Given the description of an element on the screen output the (x, y) to click on. 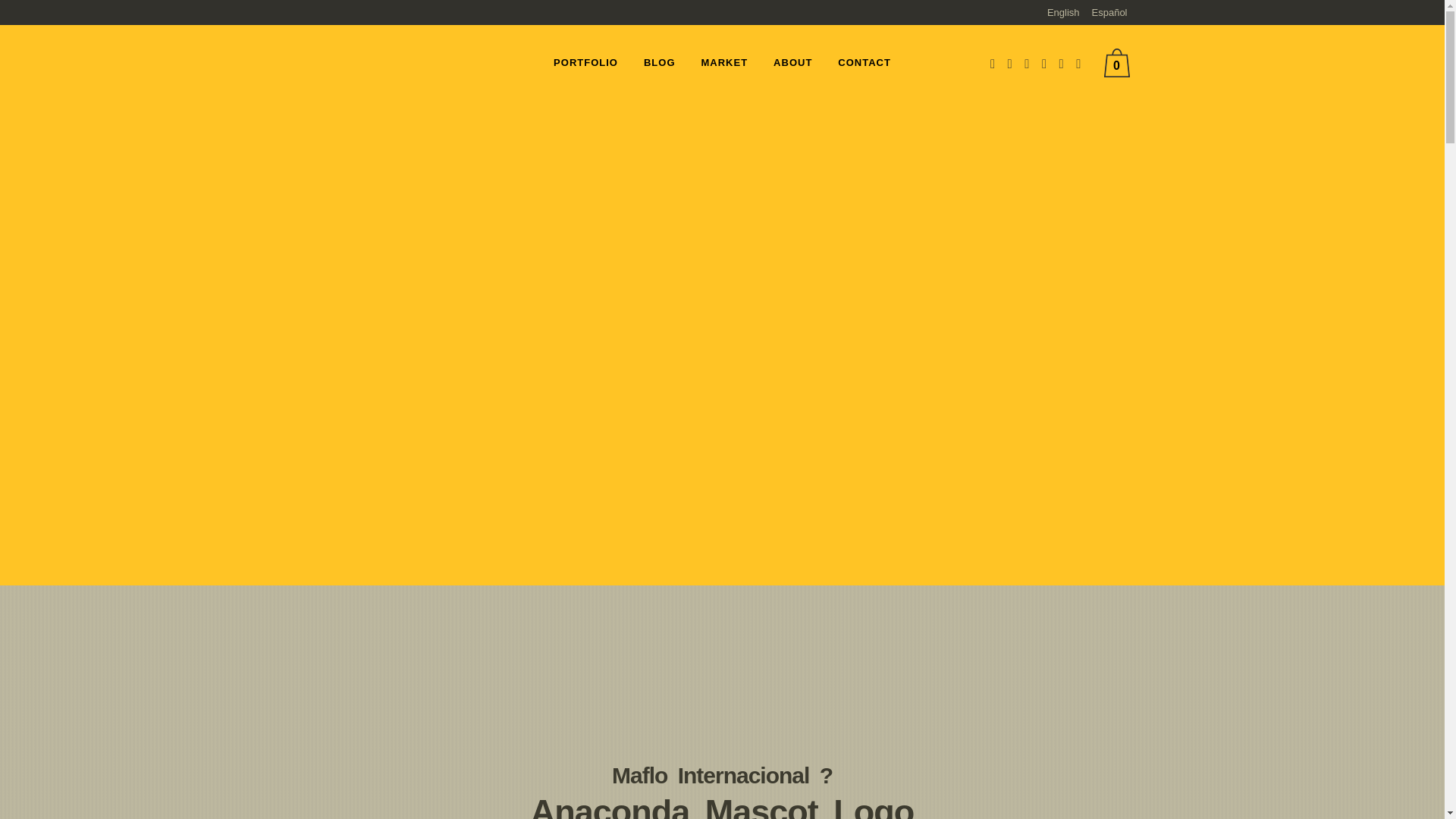
anaconda logo design (722, 292)
CONTACT (864, 62)
PORTFOLIO (585, 62)
MARKET (724, 62)
0 (1120, 62)
English (1063, 11)
anaconda logo 1color (721, 730)
